Given the description of an element on the screen output the (x, y) to click on. 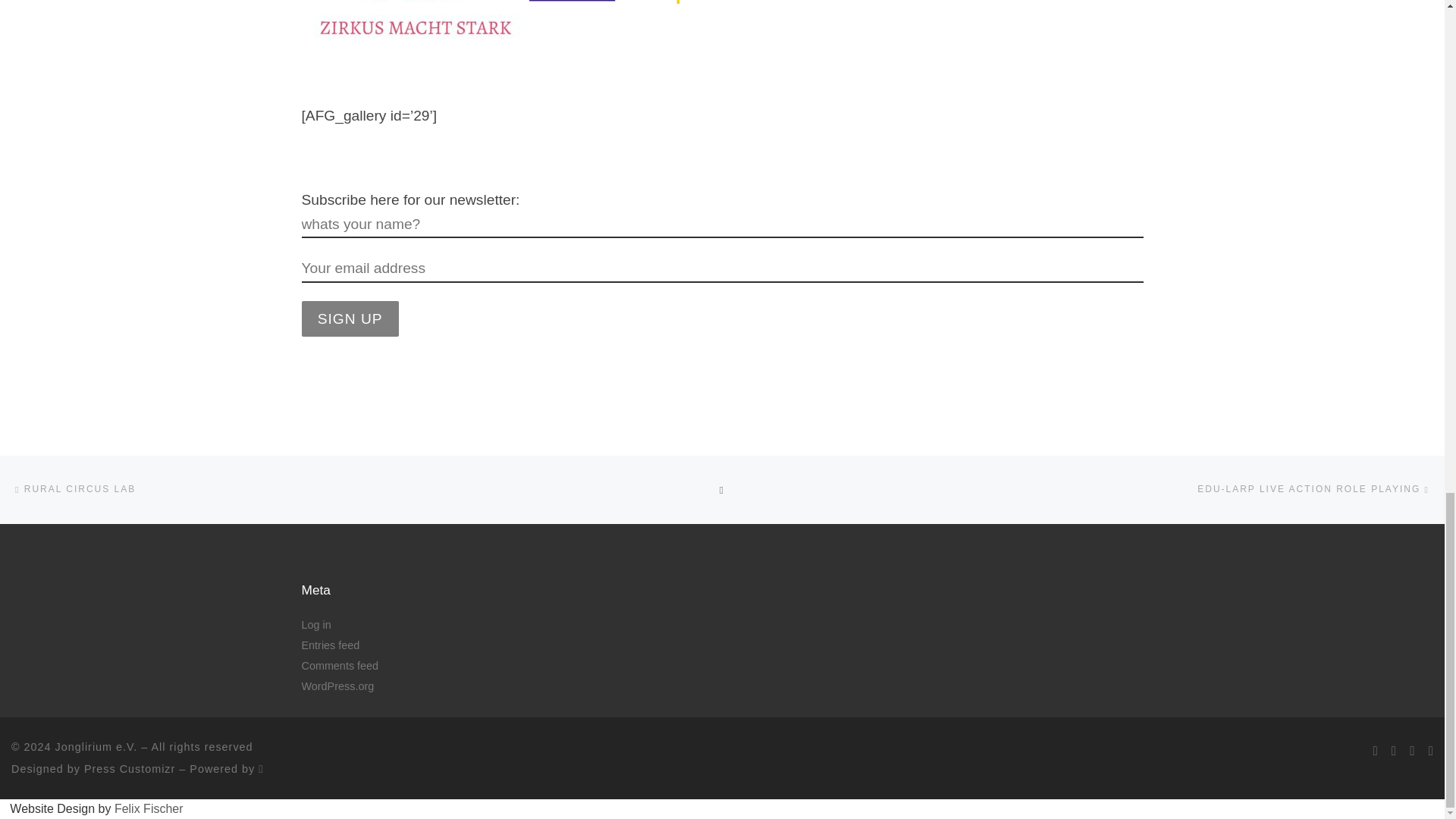
Press Customizr (129, 768)
Powered by WordPress (261, 768)
Back to post list (721, 489)
Sign up (349, 318)
Jonglirium e.V. (96, 746)
